Given the description of an element on the screen output the (x, y) to click on. 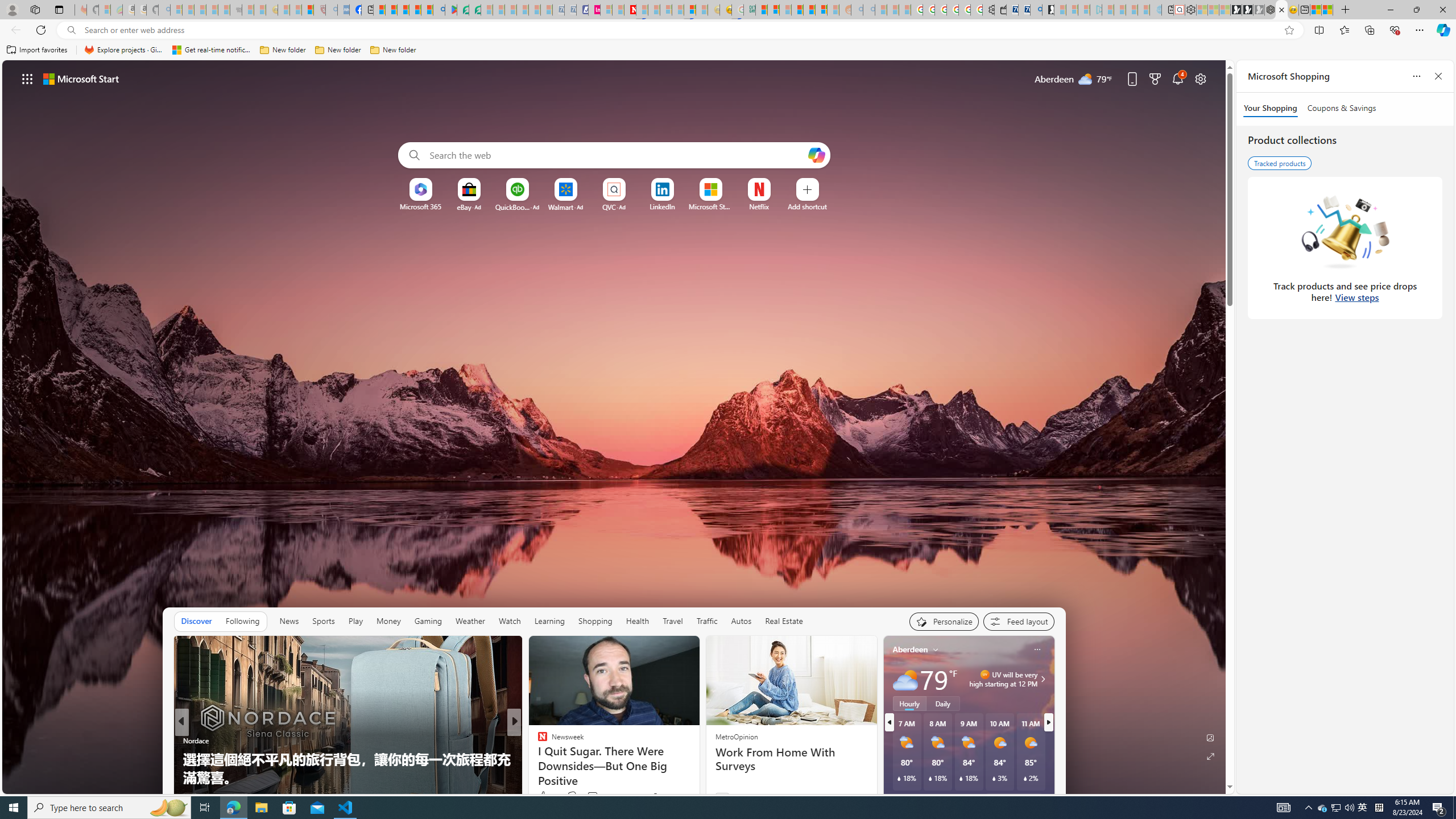
Bing Real Estate - Home sales and rental listings (1035, 9)
Real Estate (783, 621)
Edit Background (1210, 737)
Microsoft start (81, 78)
